Given the description of an element on the screen output the (x, y) to click on. 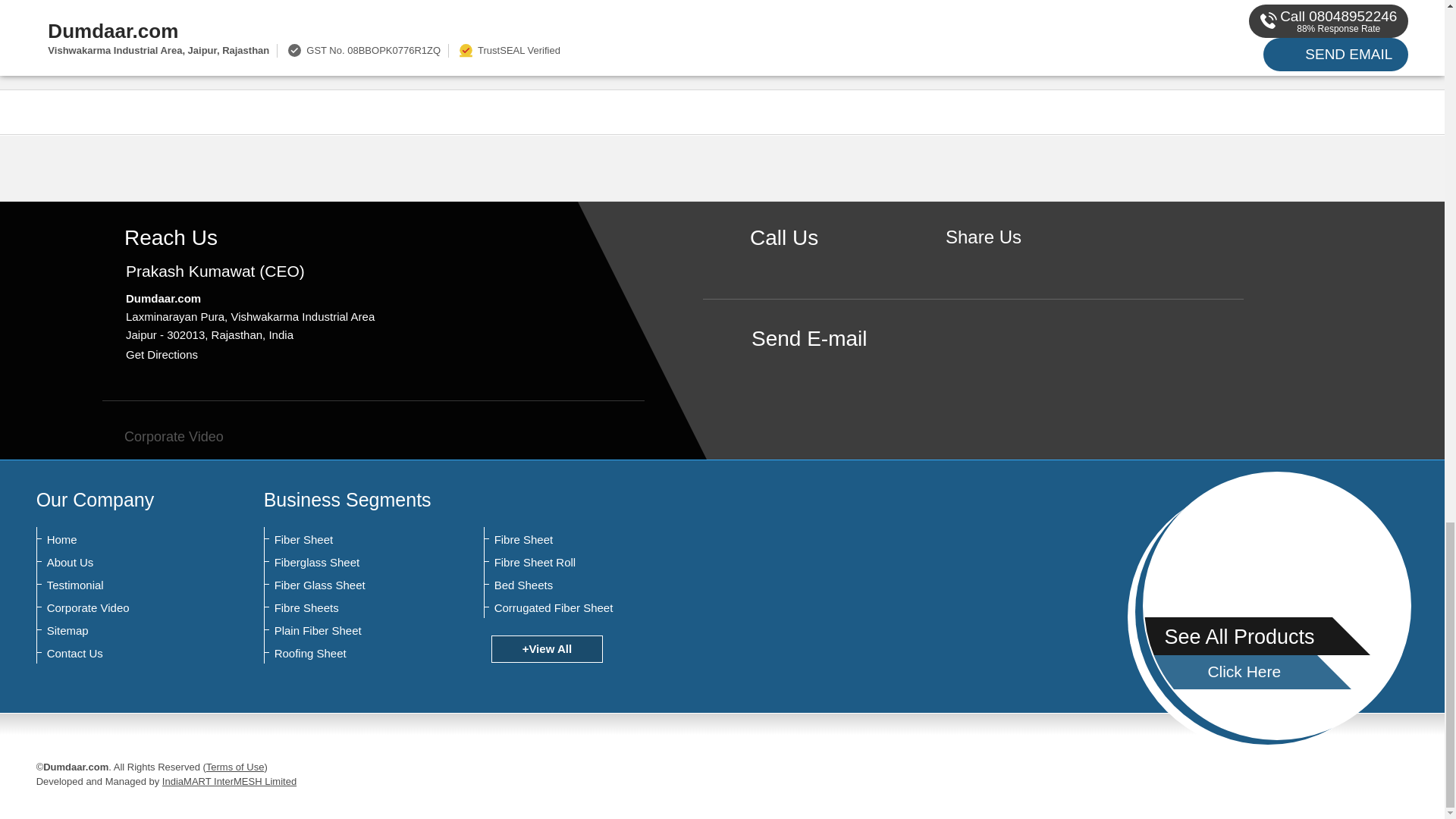
Twitter (1006, 262)
About Us (121, 562)
Get Directions (161, 354)
LinkedIn (1029, 262)
Testimonial (121, 585)
Corporate Video (162, 436)
Home (121, 539)
Facebook (983, 262)
